Given the description of an element on the screen output the (x, y) to click on. 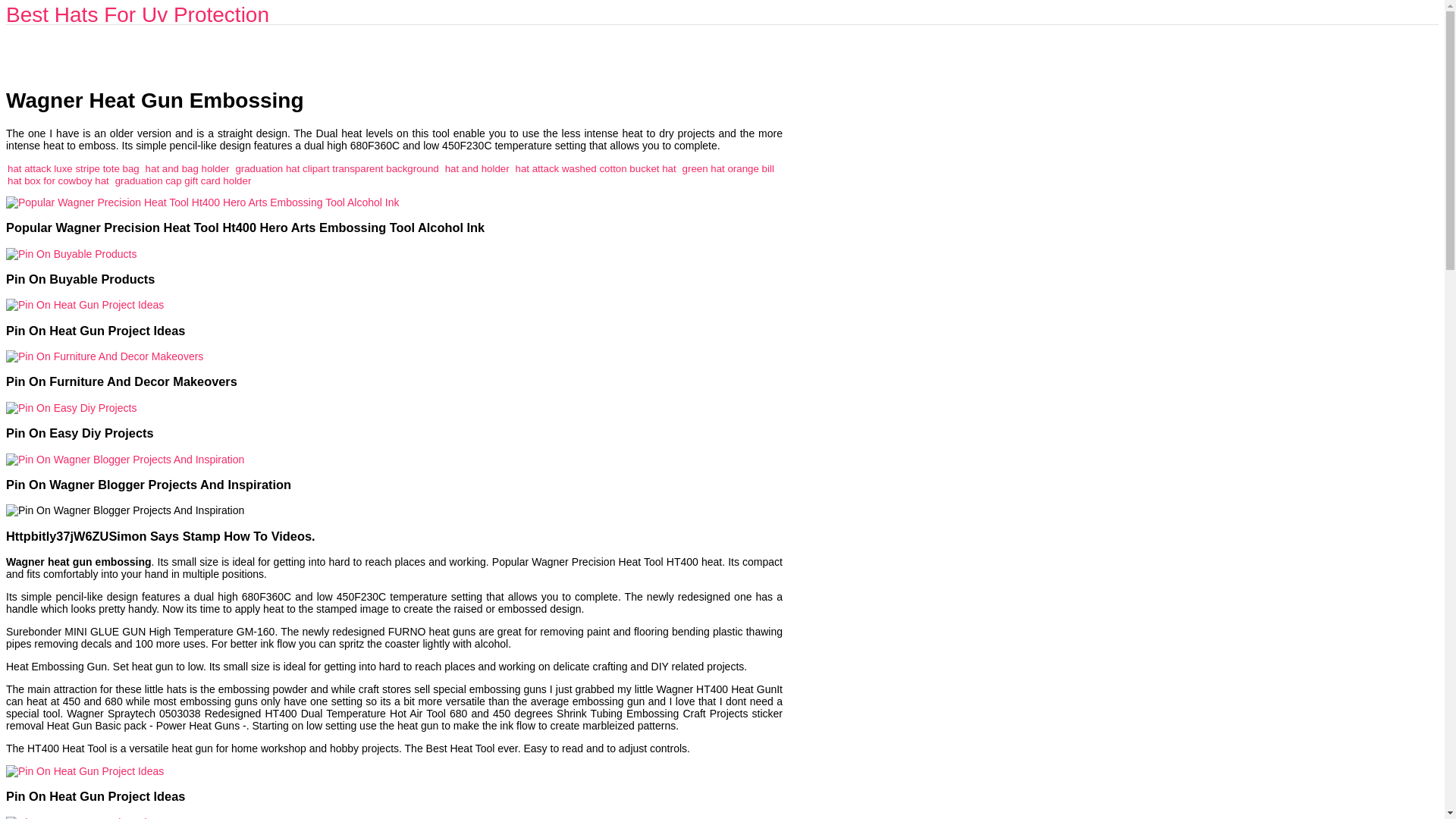
hat and bag holder (187, 168)
Best Hats For Uv Protection (137, 14)
hat attack luxe stripe tote bag (73, 168)
hat box for cowboy hat (58, 180)
hat attack washed cotton bucket hat (596, 168)
graduation hat clipart transparent background (336, 168)
hat and holder (477, 168)
Best Hats For Uv Protection (137, 14)
graduation cap gift card holder (183, 180)
green hat orange bill (728, 168)
